Given the description of an element on the screen output the (x, y) to click on. 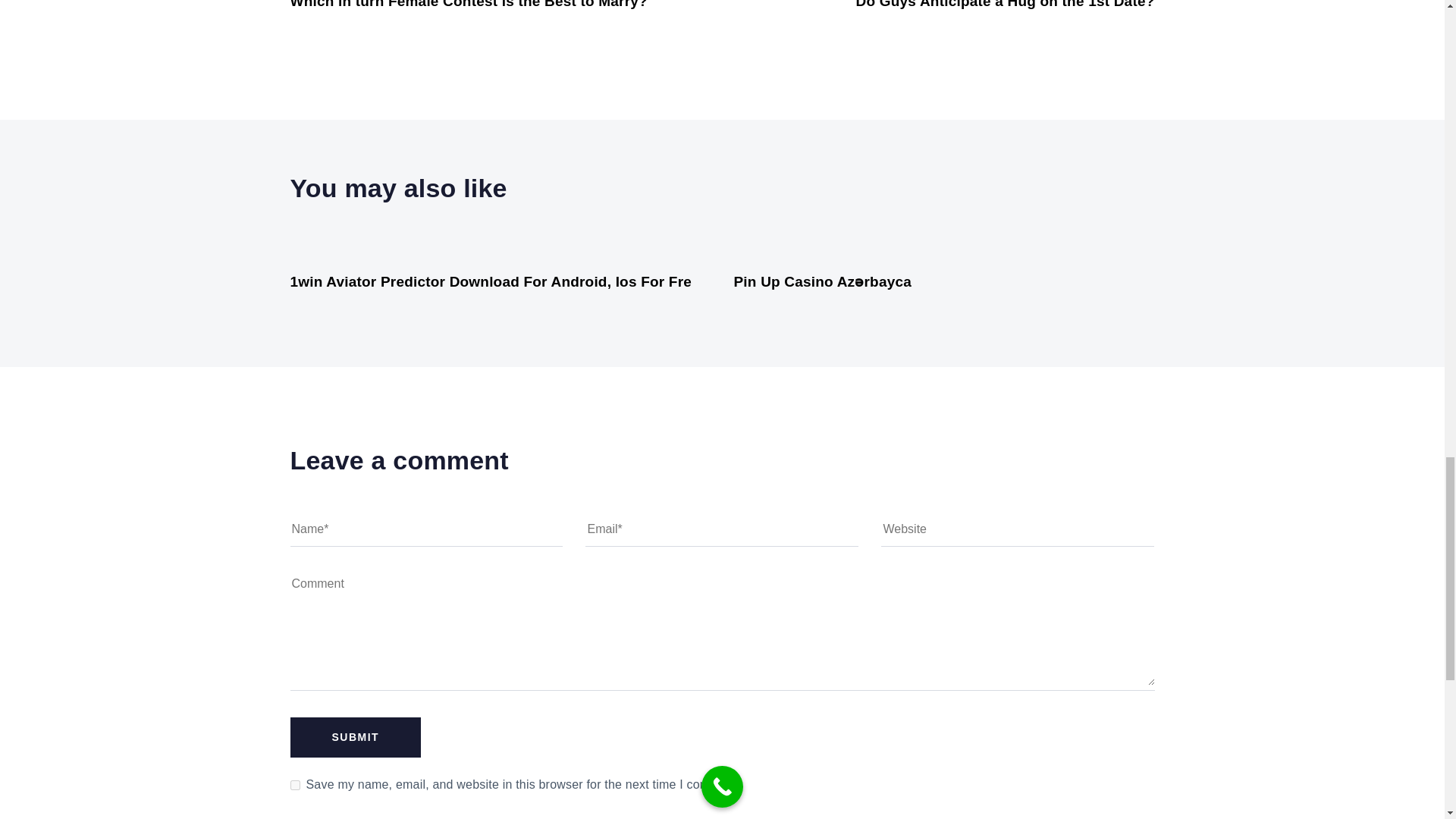
yes (294, 785)
Submit (354, 737)
1win Aviator Predictor Download For Android, Ios For Fre (490, 281)
Submit (354, 737)
